Given the description of an element on the screen output the (x, y) to click on. 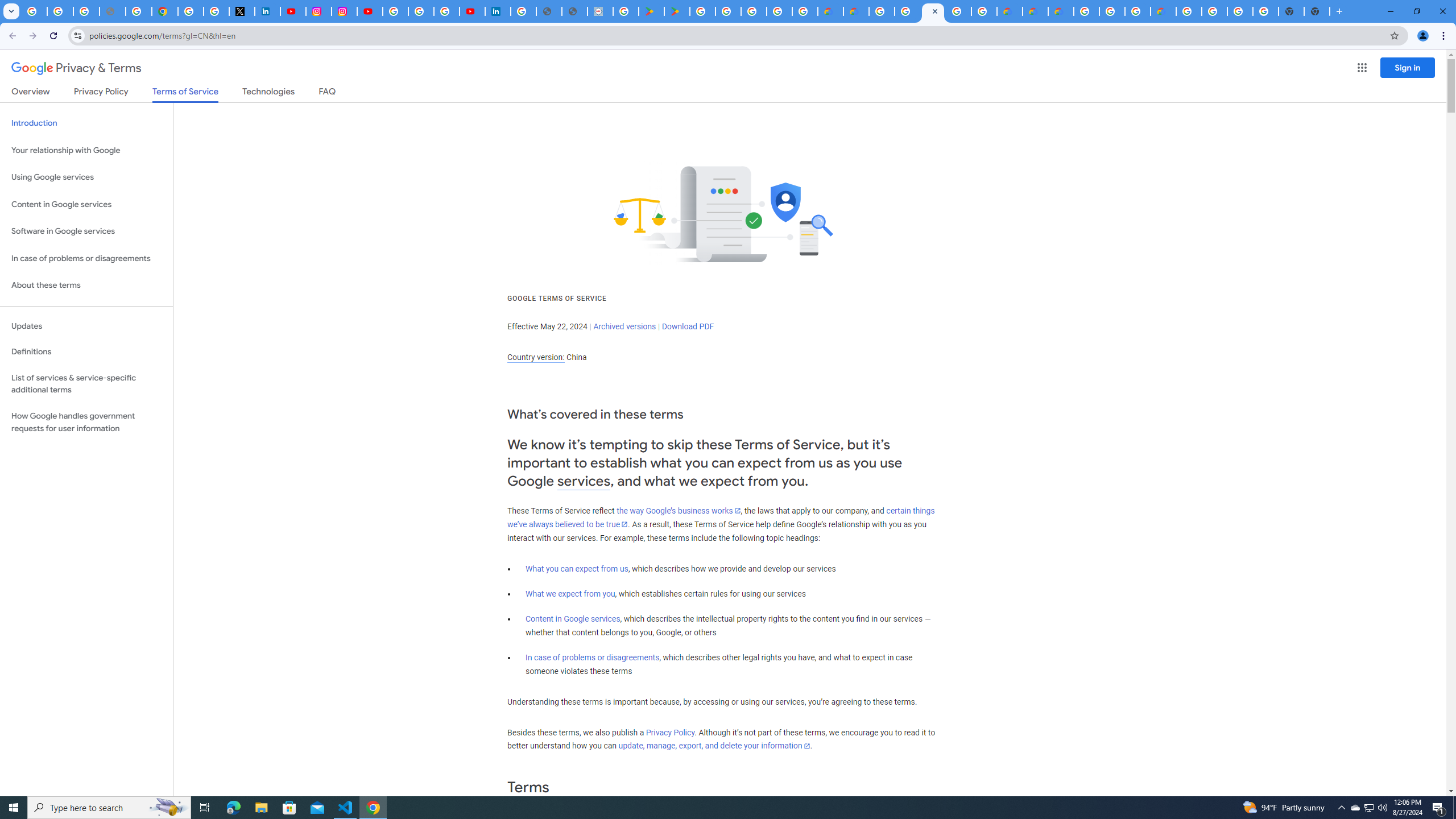
services (583, 480)
support.google.com - Network error (112, 11)
About these terms (86, 284)
Using Google services (86, 176)
YouTube Content Monetization Policies - How YouTube Works (293, 11)
Google Cloud Estimate Summary (1060, 11)
Google Cloud Pricing Calculator (1034, 11)
Google Workspace - Specific Terms (779, 11)
X (242, 11)
